Given the description of an element on the screen output the (x, y) to click on. 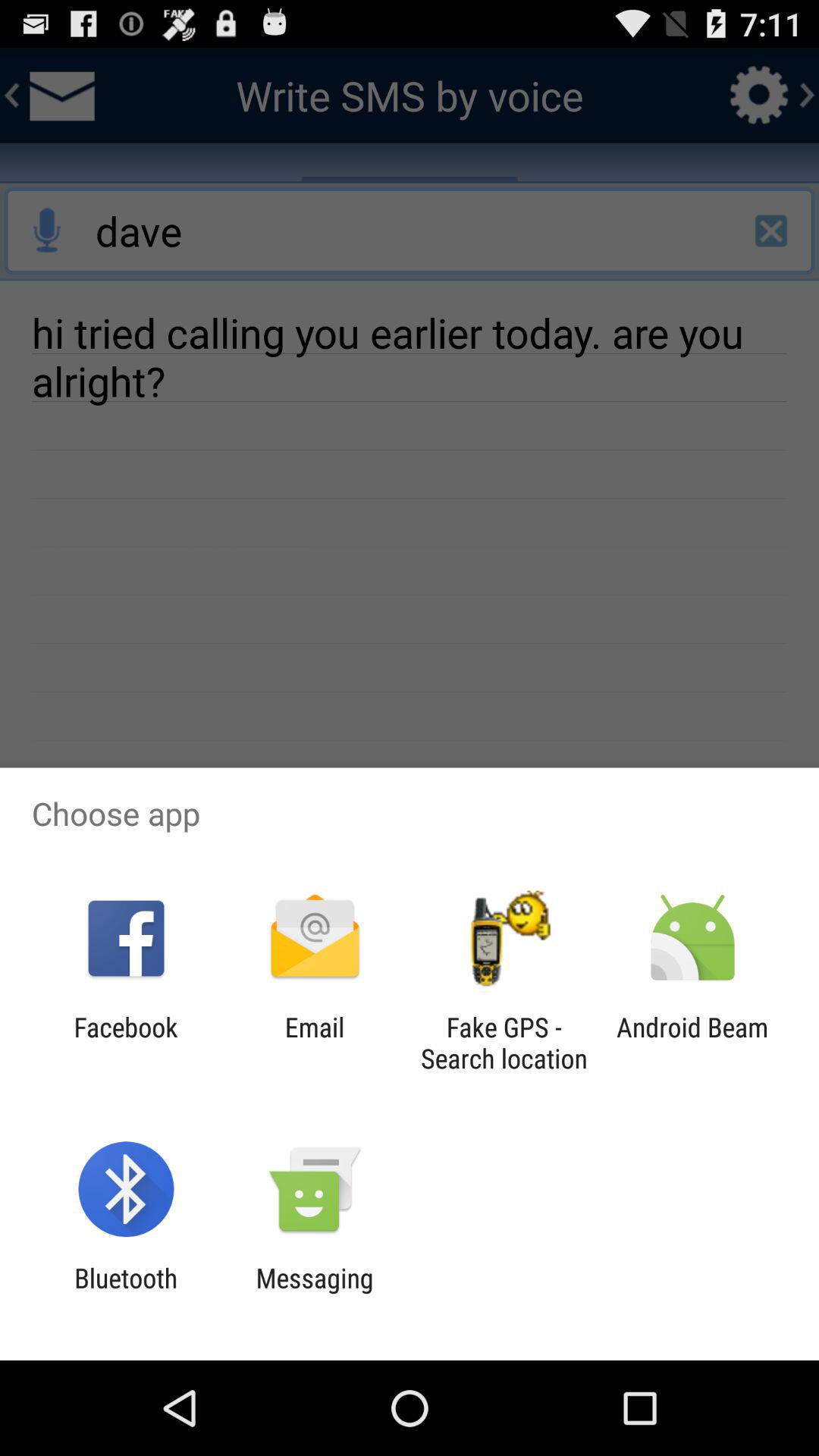
select icon next to email icon (503, 1042)
